Given the description of an element on the screen output the (x, y) to click on. 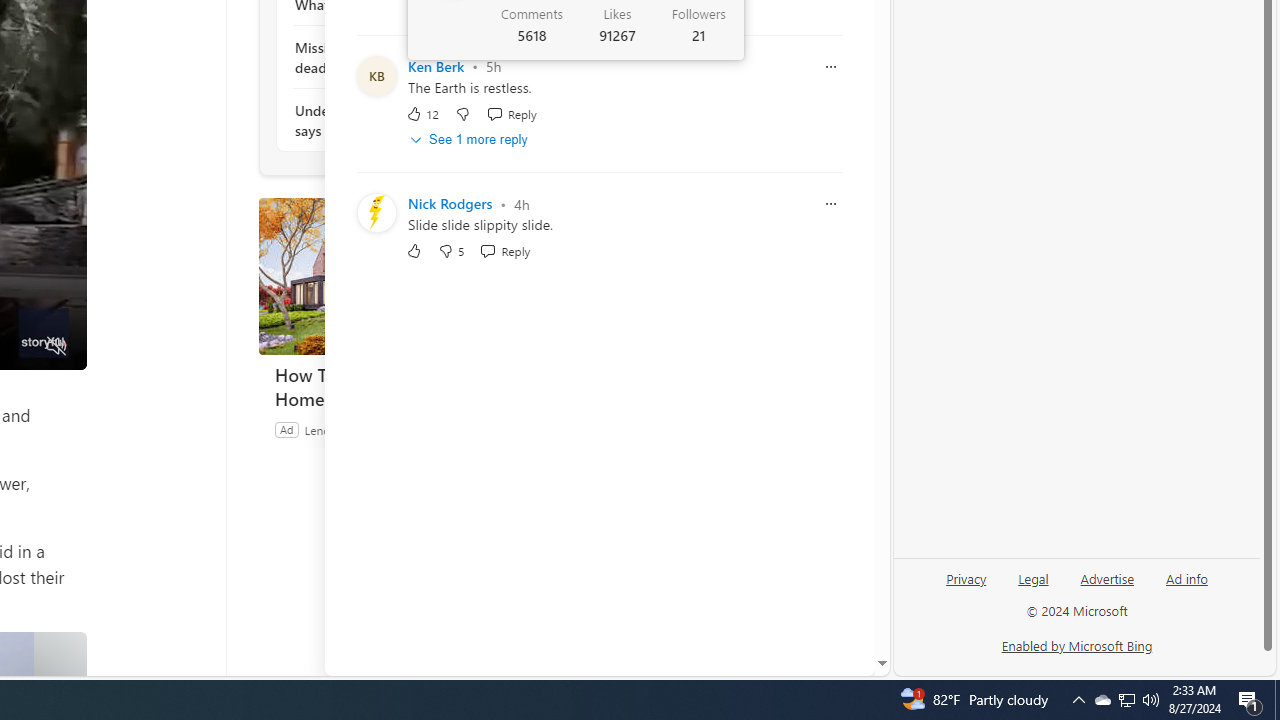
LendingTree (336, 429)
Profile Picture (376, 213)
Profile Picture (376, 213)
Nick Rodgers (450, 204)
